Given the description of an element on the screen output the (x, y) to click on. 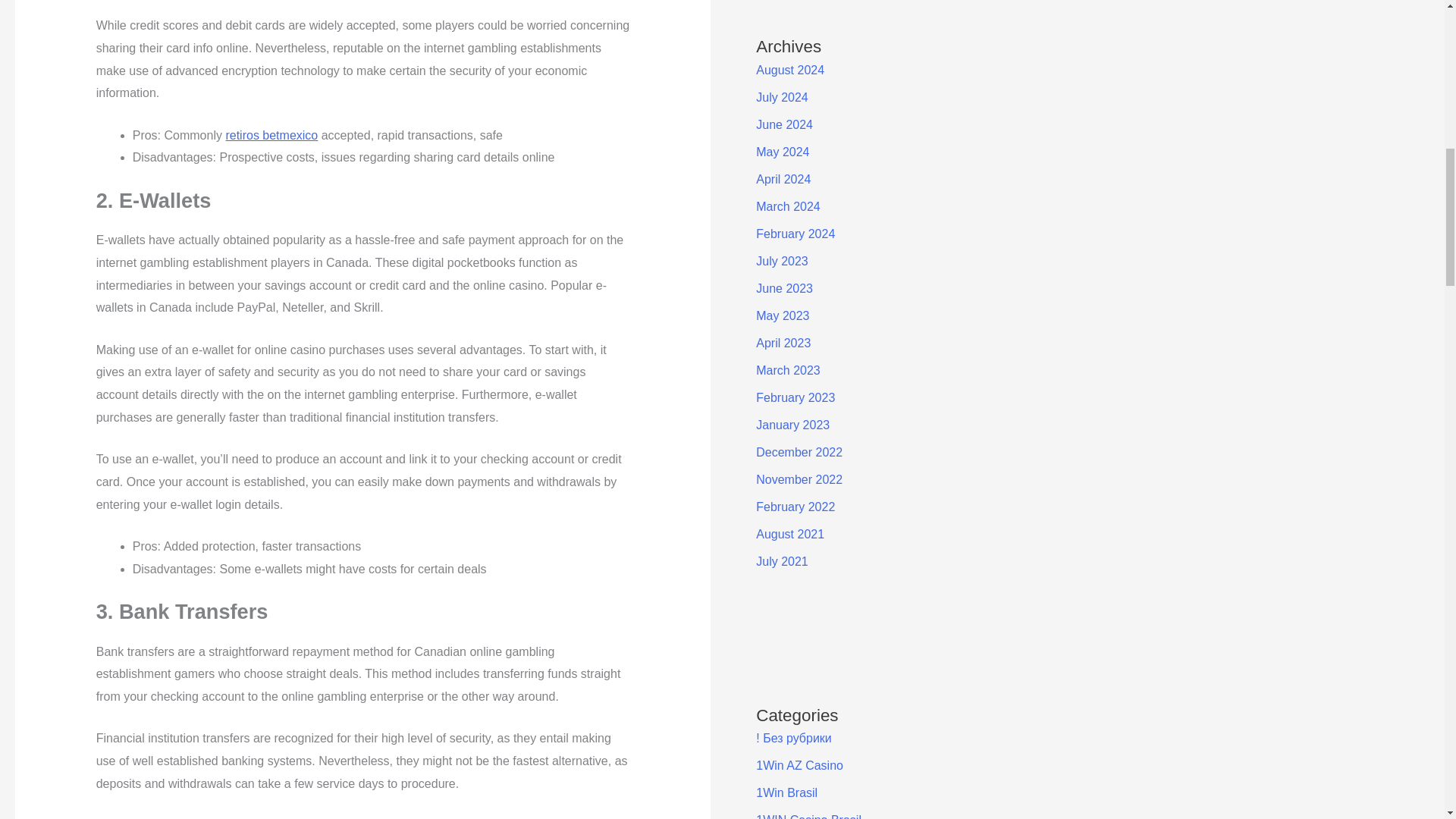
May 2023 (782, 315)
August 2024 (789, 69)
retiros betmexico (271, 134)
June 2024 (783, 124)
July 2023 (781, 260)
February 2024 (794, 233)
March 2024 (788, 205)
March 2023 (788, 369)
May 2024 (782, 151)
July 2024 (781, 97)
